Given the description of an element on the screen output the (x, y) to click on. 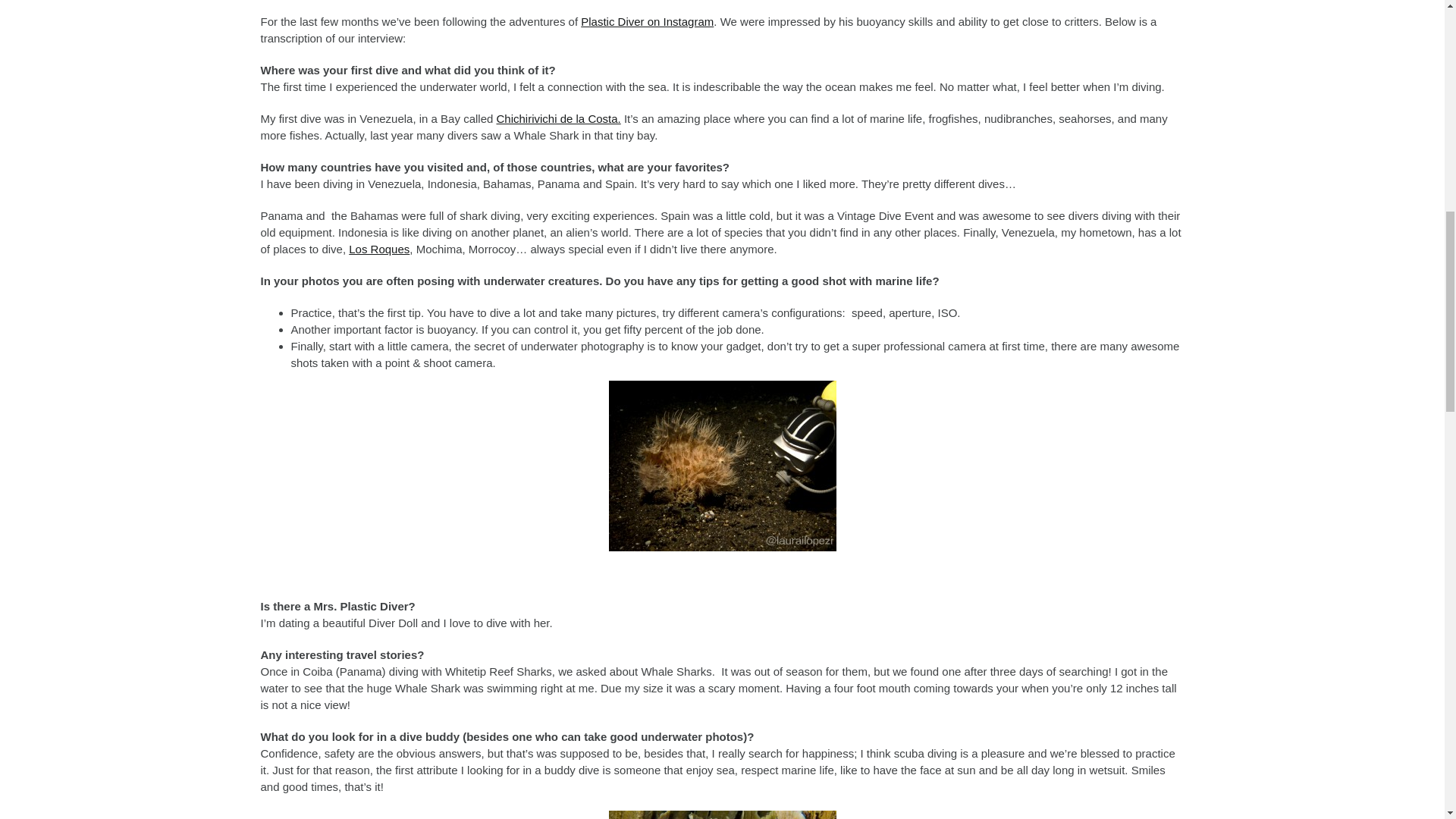
Chichiriviche de la Costa dive site (558, 118)
Los Roques scuba diving national park (379, 248)
Plastic Diver and Hairy Frogfish (721, 465)
Plastic Diver on Instagram (646, 21)
